Given the description of an element on the screen output the (x, y) to click on. 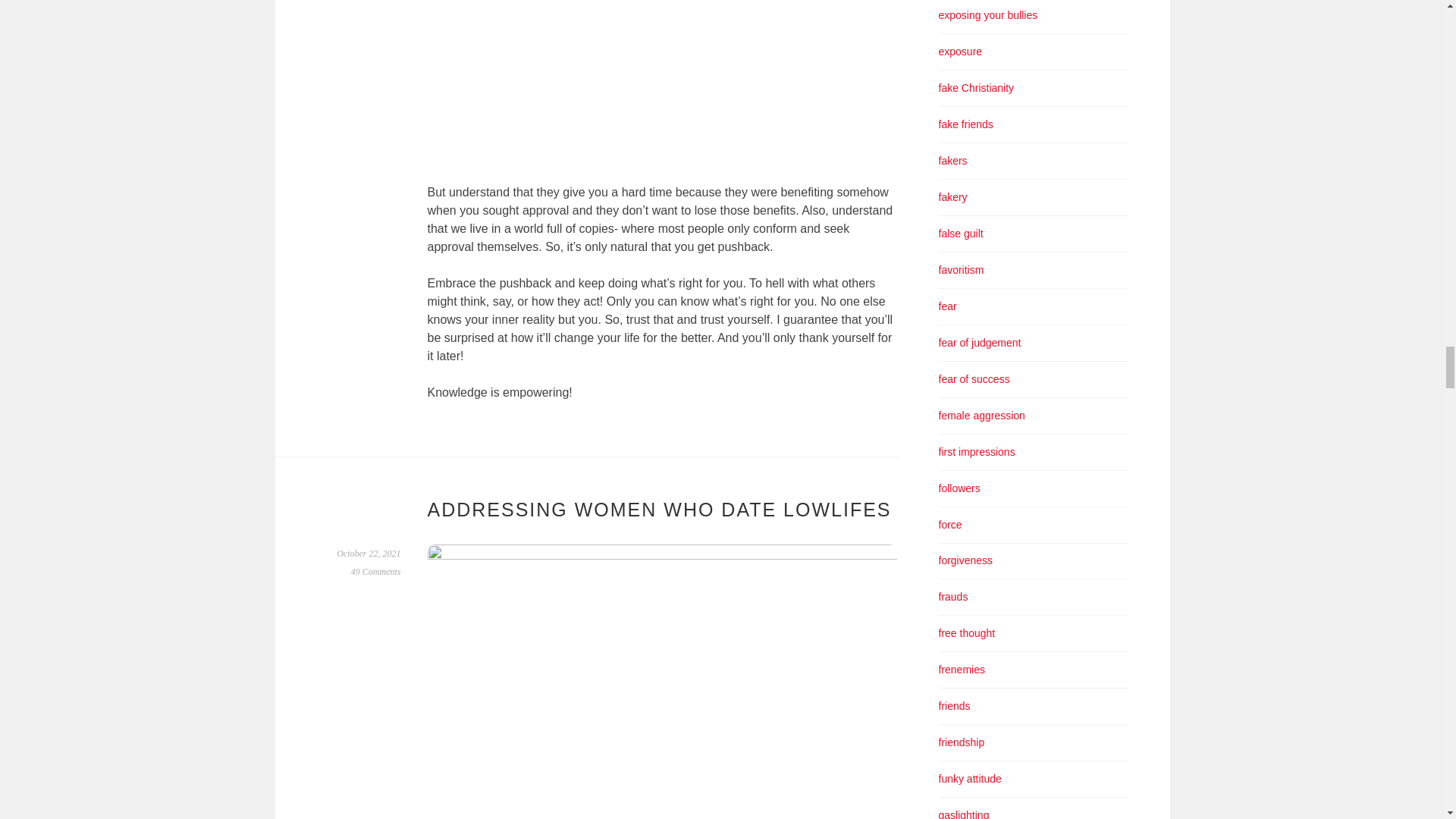
49 Comments (375, 571)
ADDRESSING WOMEN WHO DATE LOWLIFES (659, 509)
Permalink to Addressing Women Who Date Lowlifes (368, 552)
October 22, 2021 (368, 552)
